Given the description of an element on the screen output the (x, y) to click on. 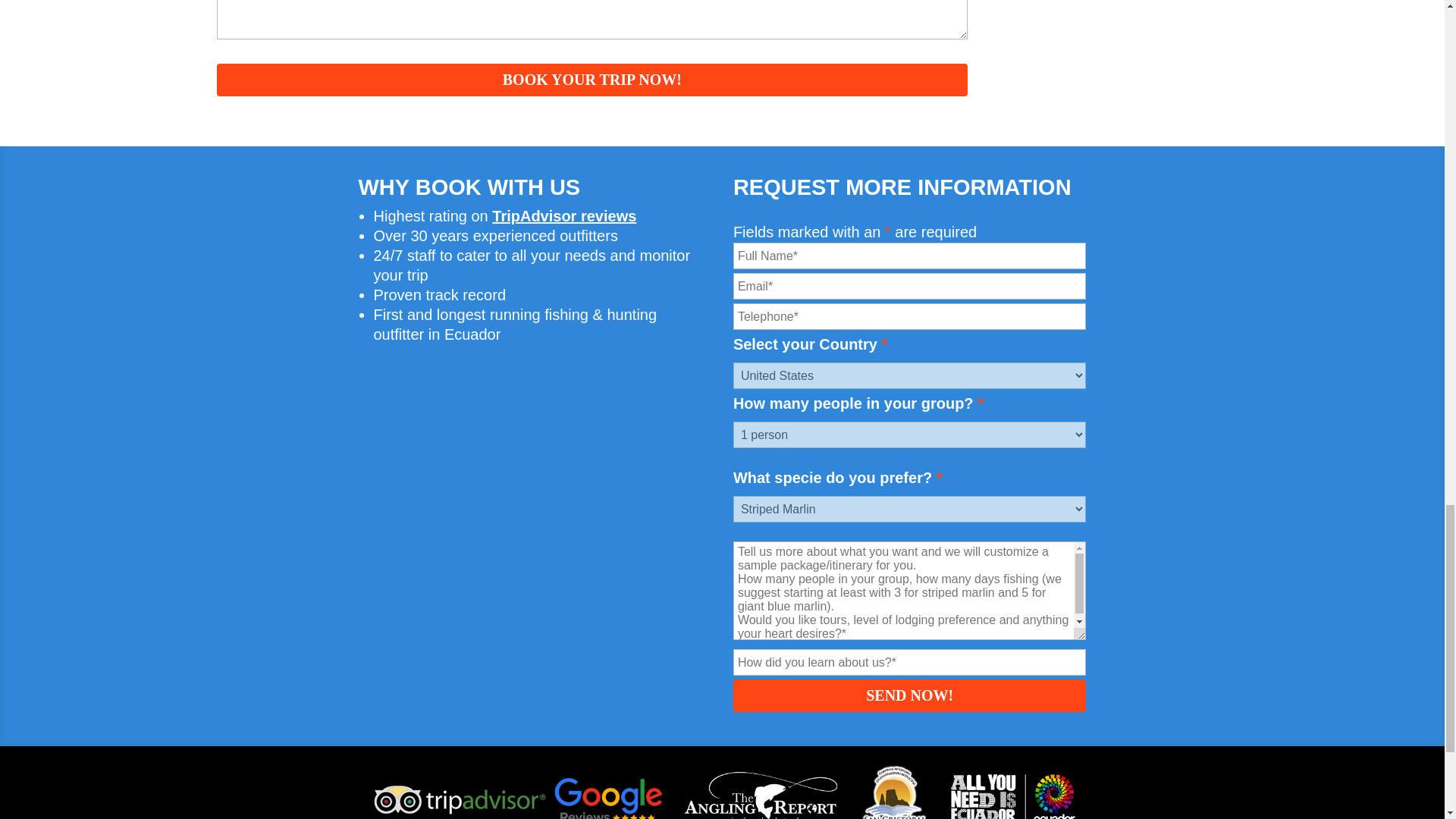
footer icons 01 (722, 790)
Book Your Trip Now! (592, 79)
SEND NOW! (909, 695)
